Given the description of an element on the screen output the (x, y) to click on. 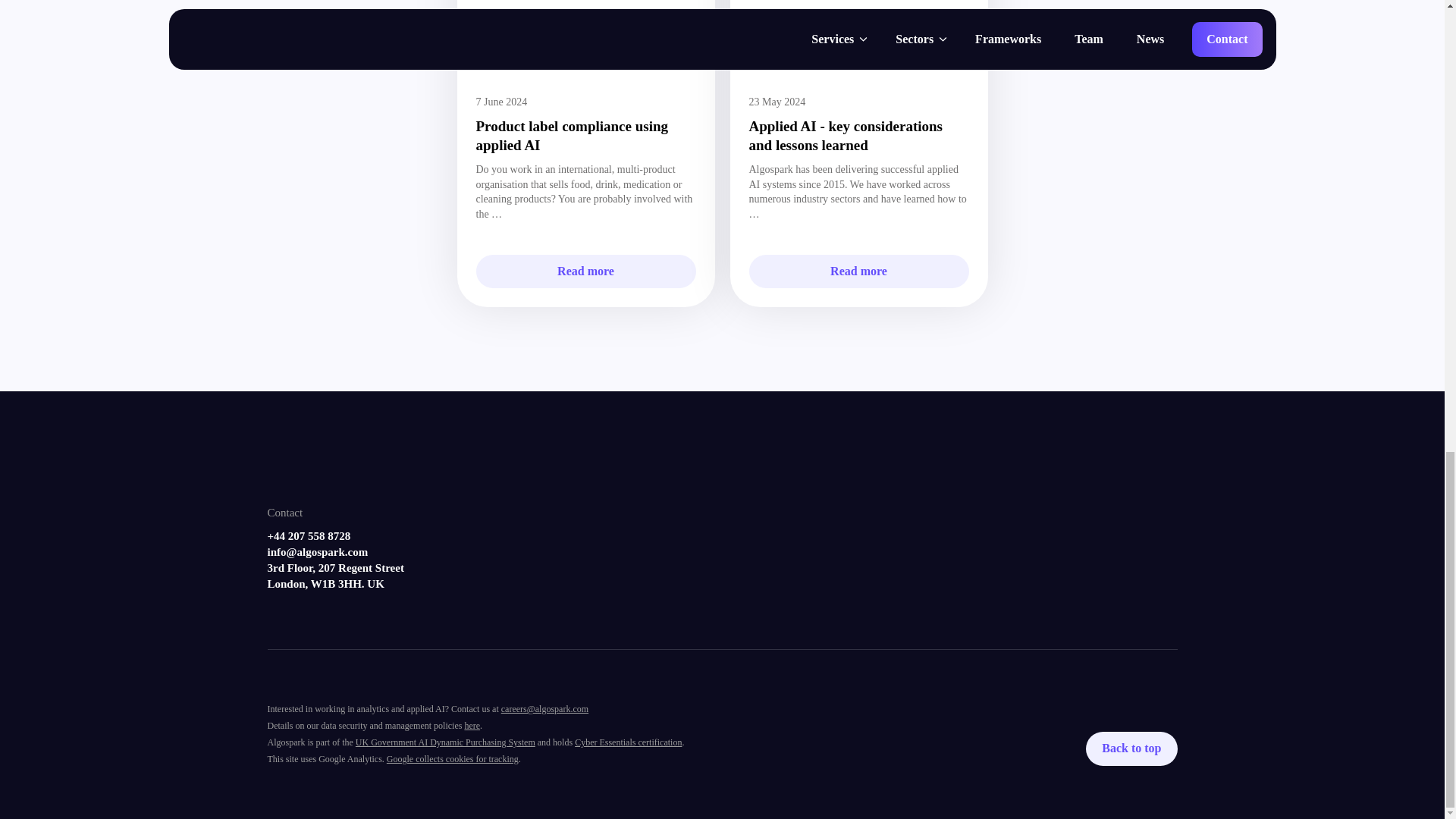
Product label compliance using applied AI (572, 135)
UK Government AI Dynamic Purchasing System (445, 742)
Read more (859, 271)
Cyber Essentials certification (628, 742)
Applied AI - key considerations and lessons learned (845, 135)
Read more (585, 271)
here (472, 725)
